Given the description of an element on the screen output the (x, y) to click on. 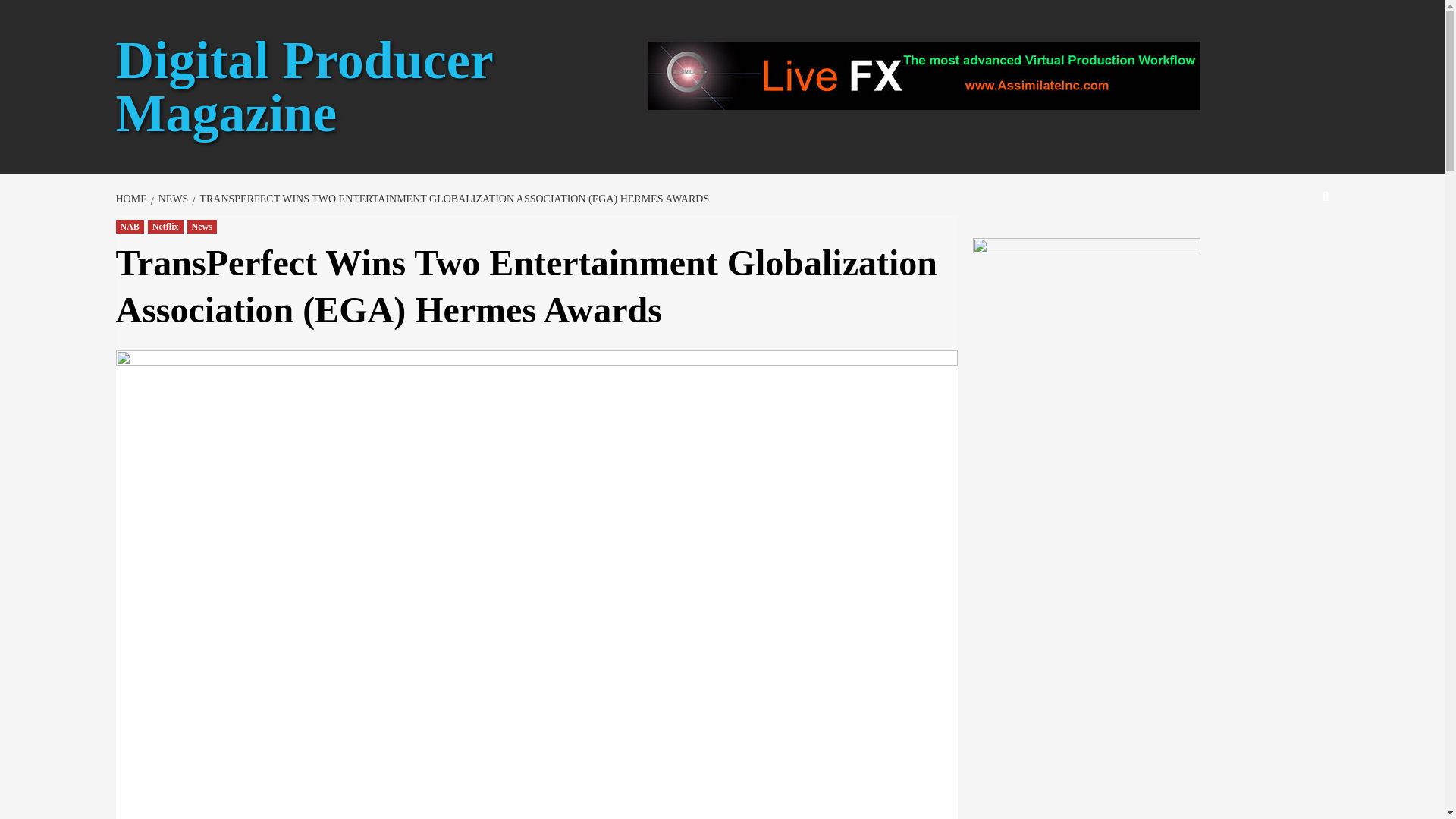
Netflix (165, 226)
News (200, 226)
NAB (128, 226)
HOME (132, 198)
NEWS (171, 198)
Digital Producer Magazine (303, 86)
